Given the description of an element on the screen output the (x, y) to click on. 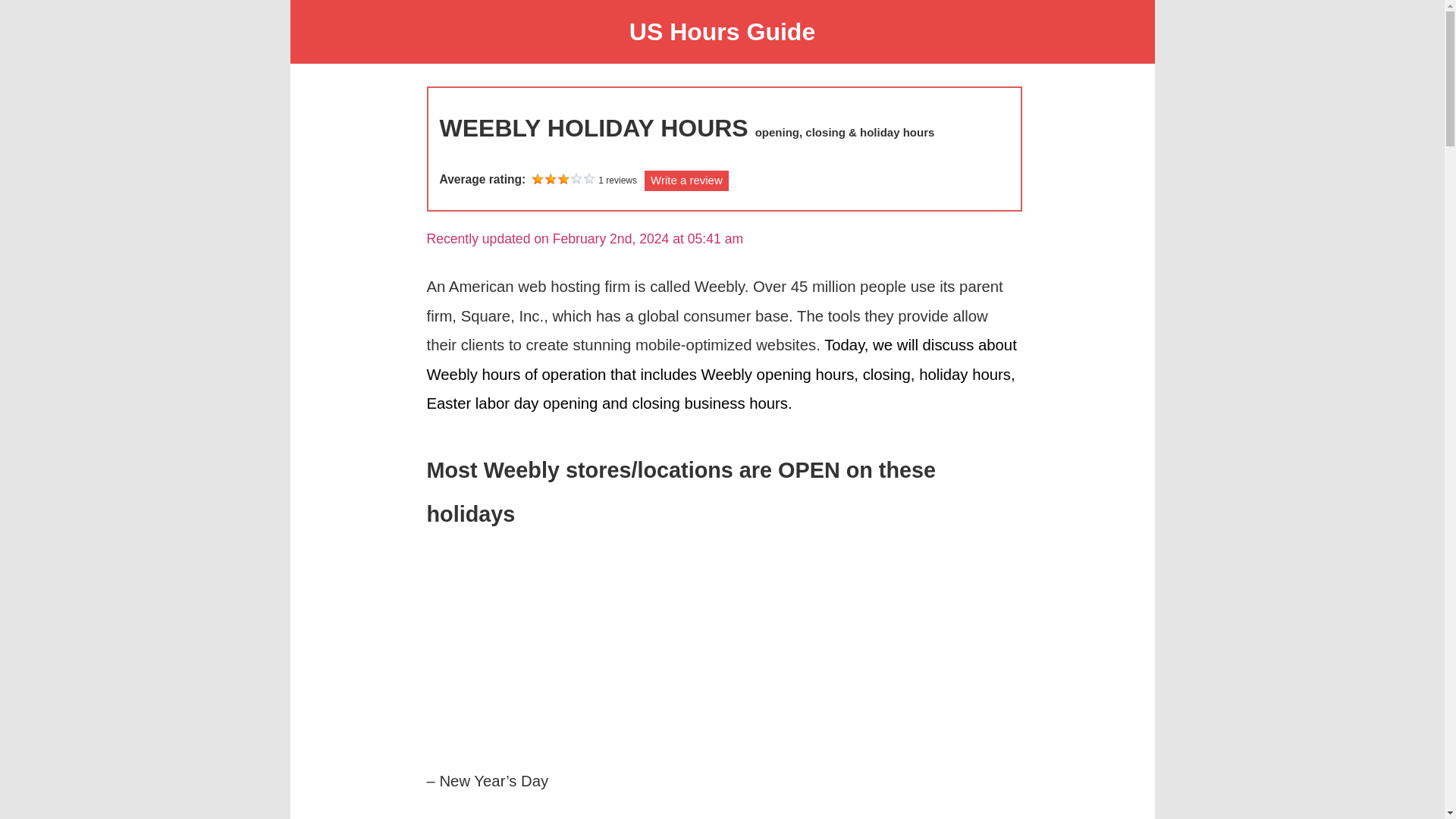
US Hours Guide (721, 31)
Advertisement (724, 644)
Write a review (687, 180)
